Given the description of an element on the screen output the (x, y) to click on. 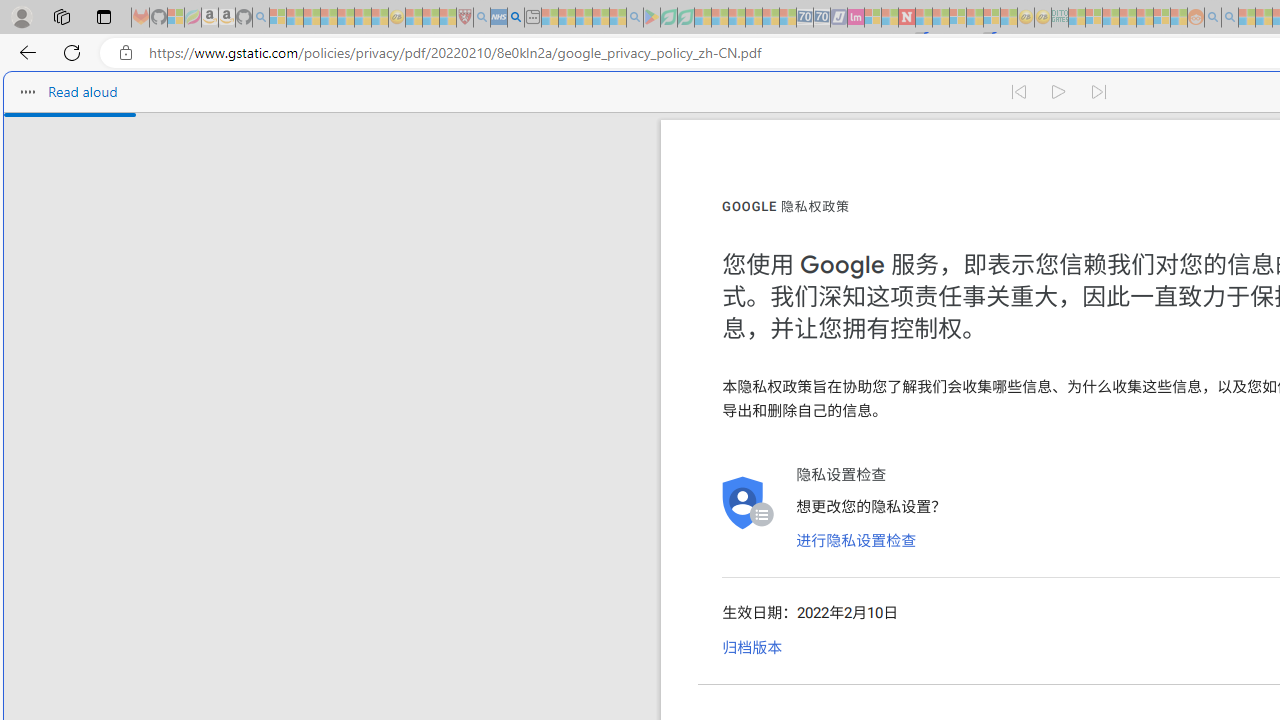
Read next paragraph (1099, 92)
Read previous paragraph (1018, 92)
